Given the description of an element on the screen output the (x, y) to click on. 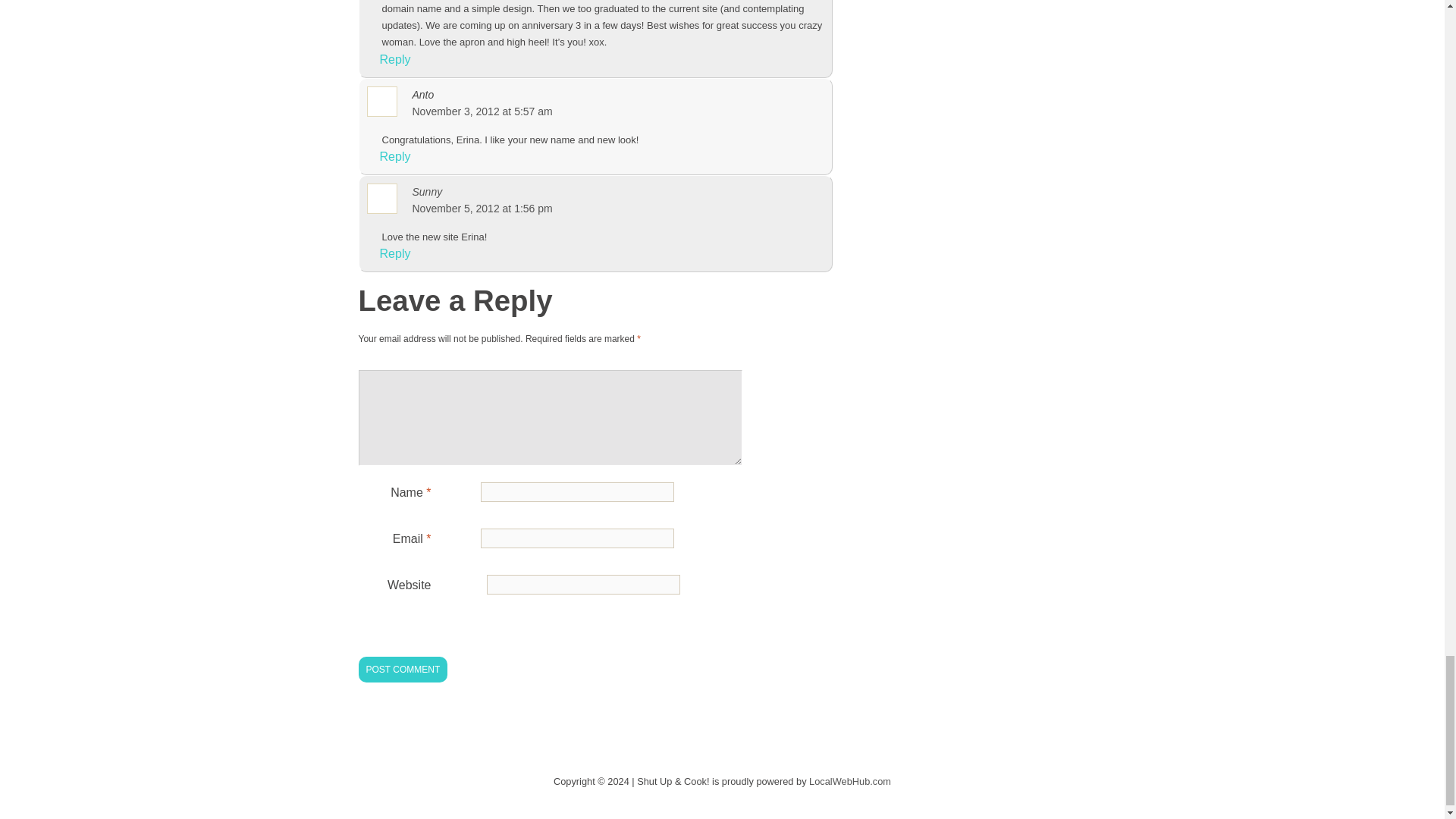
LocalWebHub.com - Small Business Web Design and Hosting (850, 781)
Post Comment (402, 669)
